Given the description of an element on the screen output the (x, y) to click on. 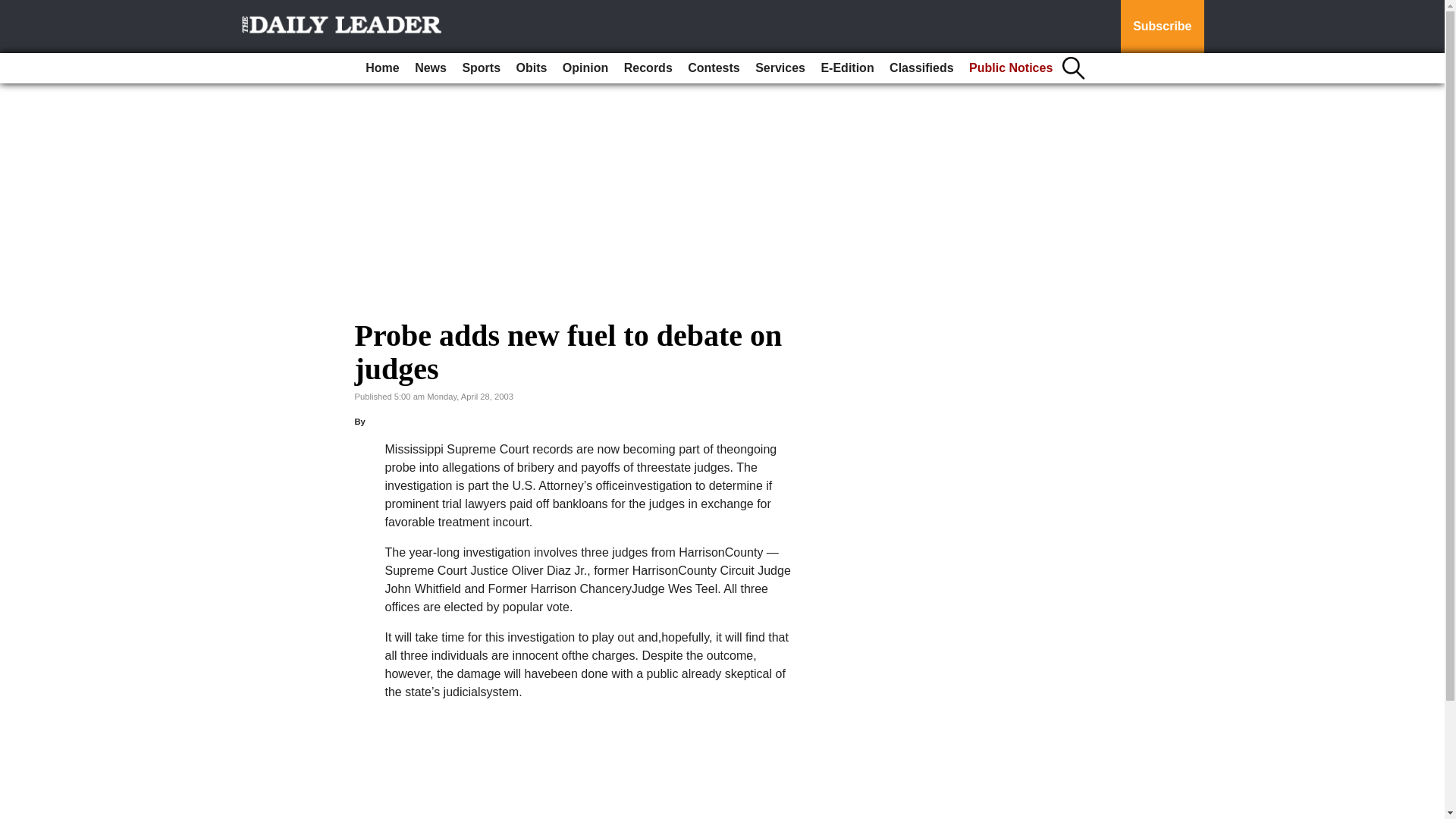
E-Edition (846, 68)
Home (381, 68)
Contests (713, 68)
News (430, 68)
Opinion (585, 68)
Go (13, 9)
Subscribe (1162, 26)
Classifieds (921, 68)
Records (647, 68)
Public Notices (1010, 68)
